Given the description of an element on the screen output the (x, y) to click on. 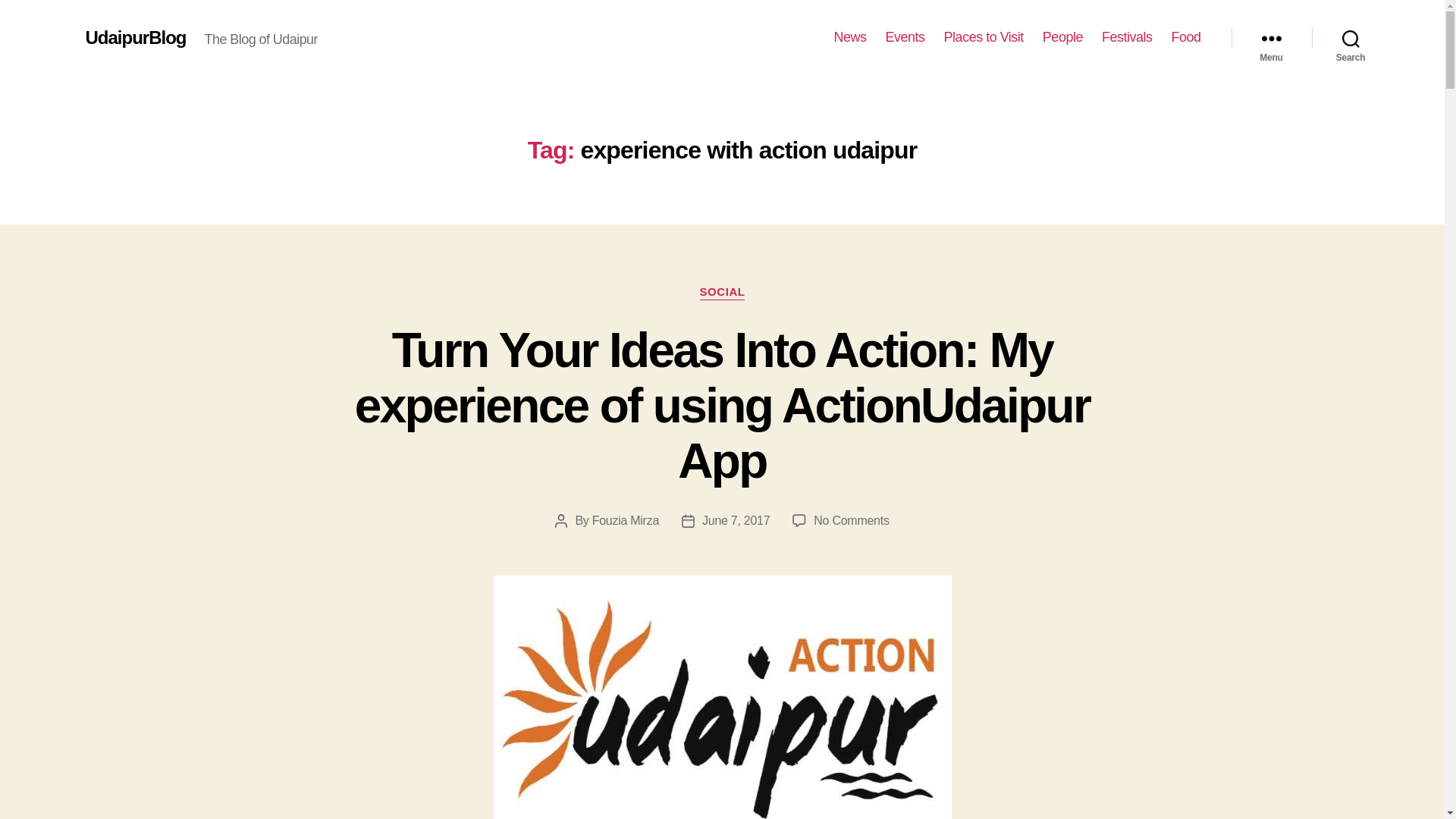
Menu (1271, 37)
Events (904, 37)
People (1062, 37)
Places to Visit (983, 37)
UdaipurBlog (135, 37)
News (850, 37)
June 7, 2017 (735, 520)
Search (1350, 37)
